Given the description of an element on the screen output the (x, y) to click on. 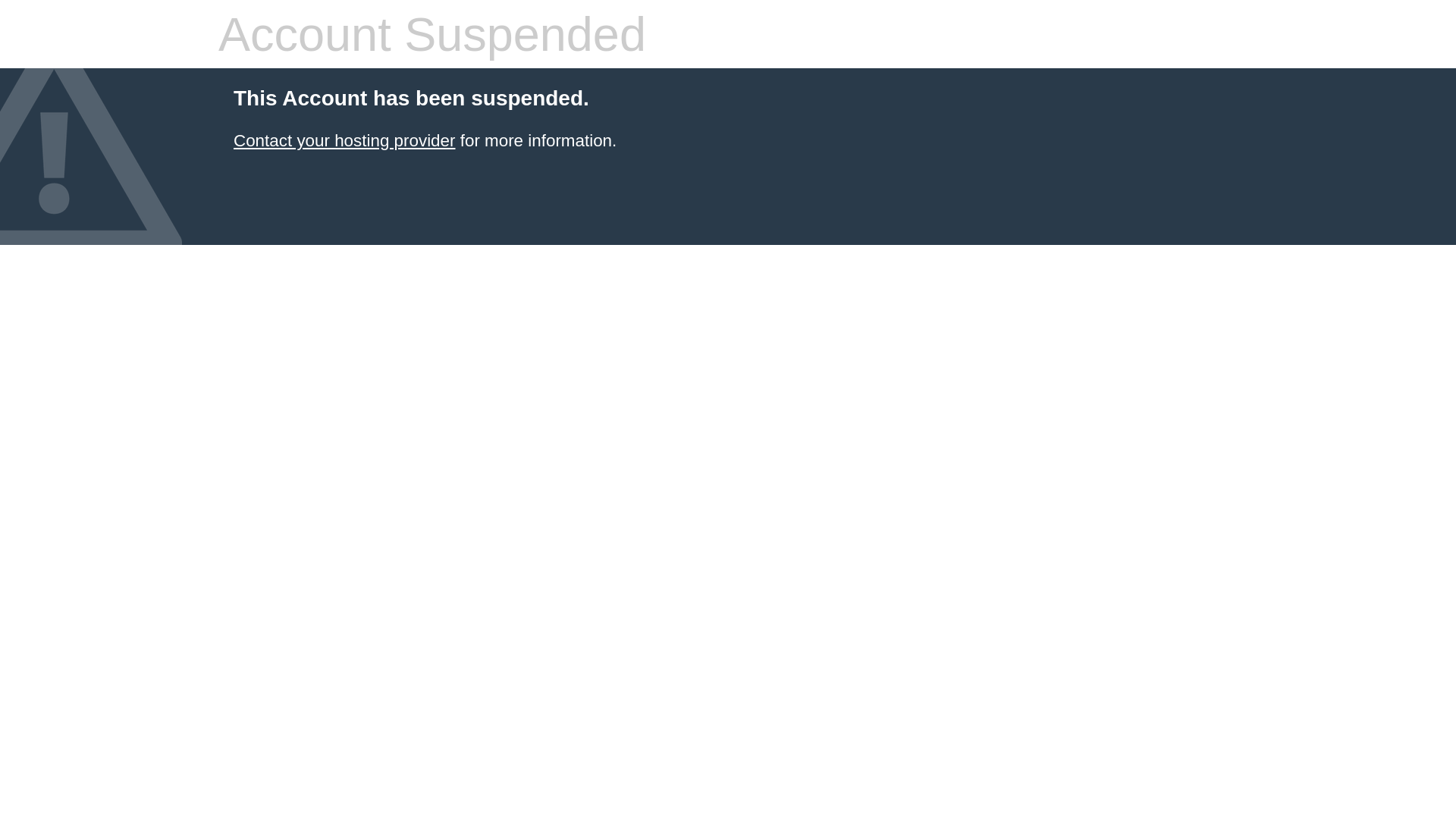
Contact your hosting provider Element type: text (344, 140)
